Given the description of an element on the screen output the (x, y) to click on. 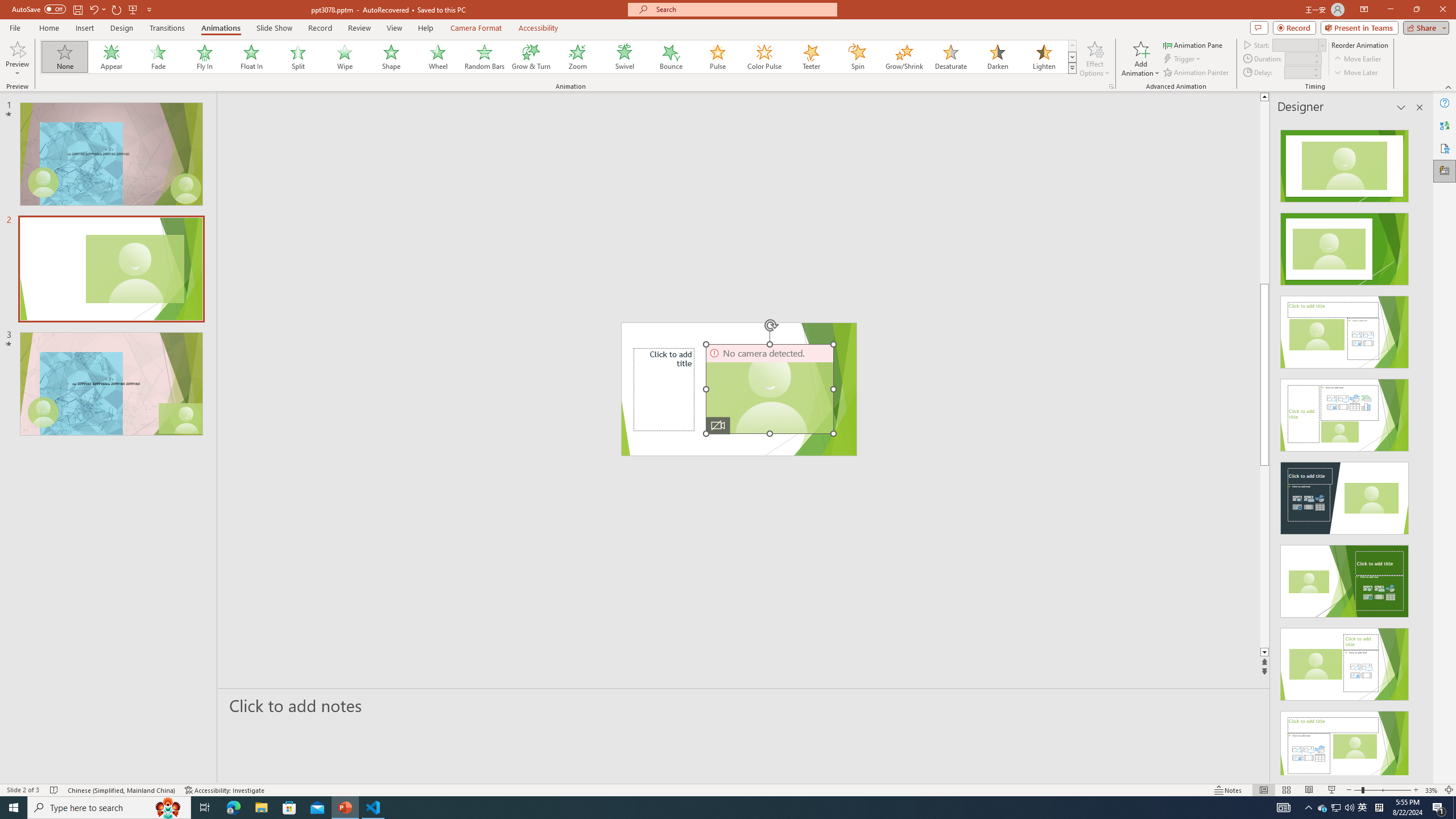
Lighten (1043, 56)
Wipe (344, 56)
Random Bars (484, 56)
AutomationID: AnimationGallery (558, 56)
Camera Format (475, 28)
